Given the description of an element on the screen output the (x, y) to click on. 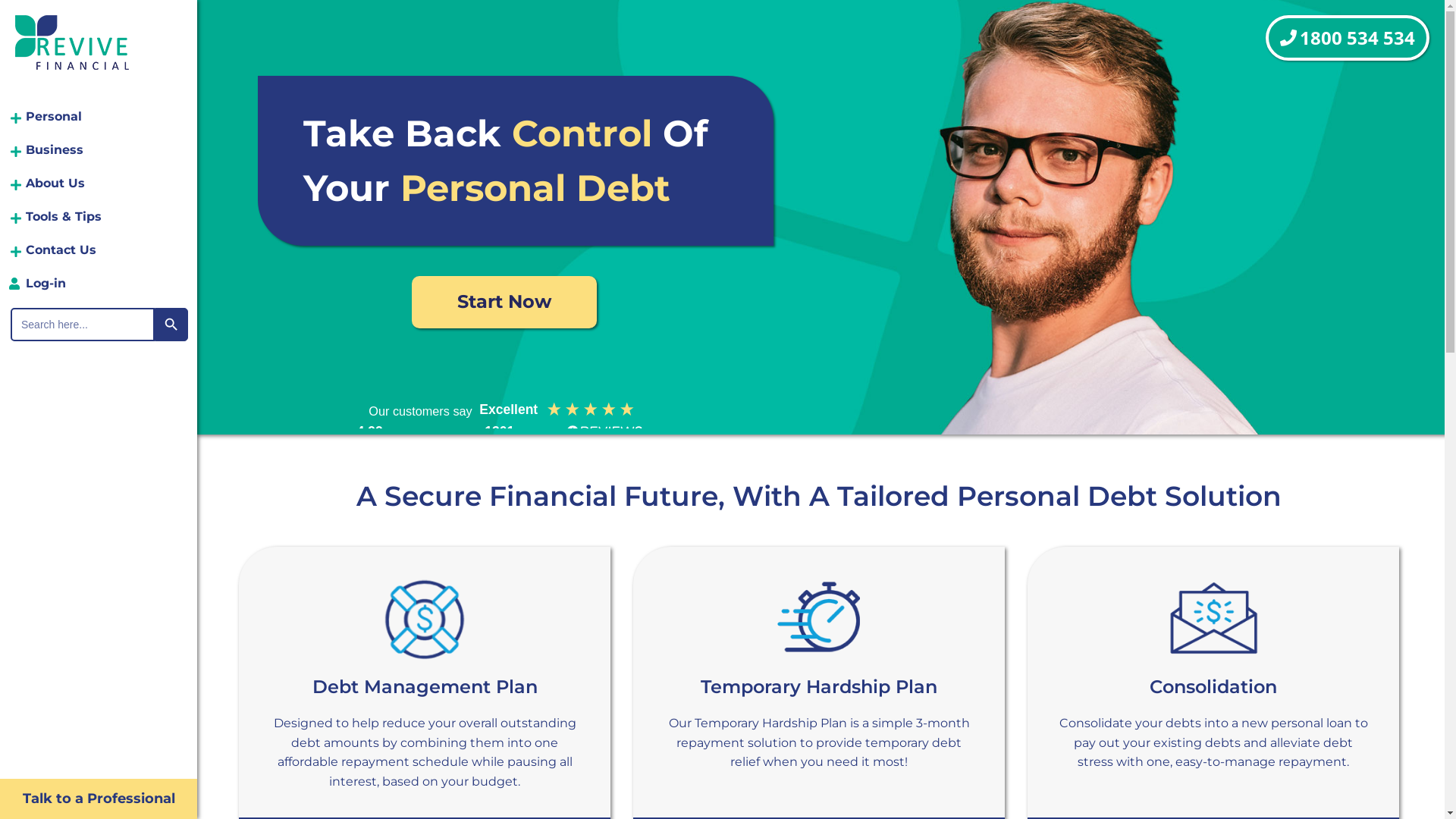
About Us Element type: text (98, 183)
Business Element type: text (98, 149)
Reviews Widget Element type: hover (496, 411)
Contact Us Element type: text (98, 249)
Personal Element type: text (98, 116)
Search Button Element type: text (171, 324)
Start Now Element type: text (503, 302)
Log-in Element type: text (98, 283)
Tools & Tips Element type: text (98, 216)
